Given the description of an element on the screen output the (x, y) to click on. 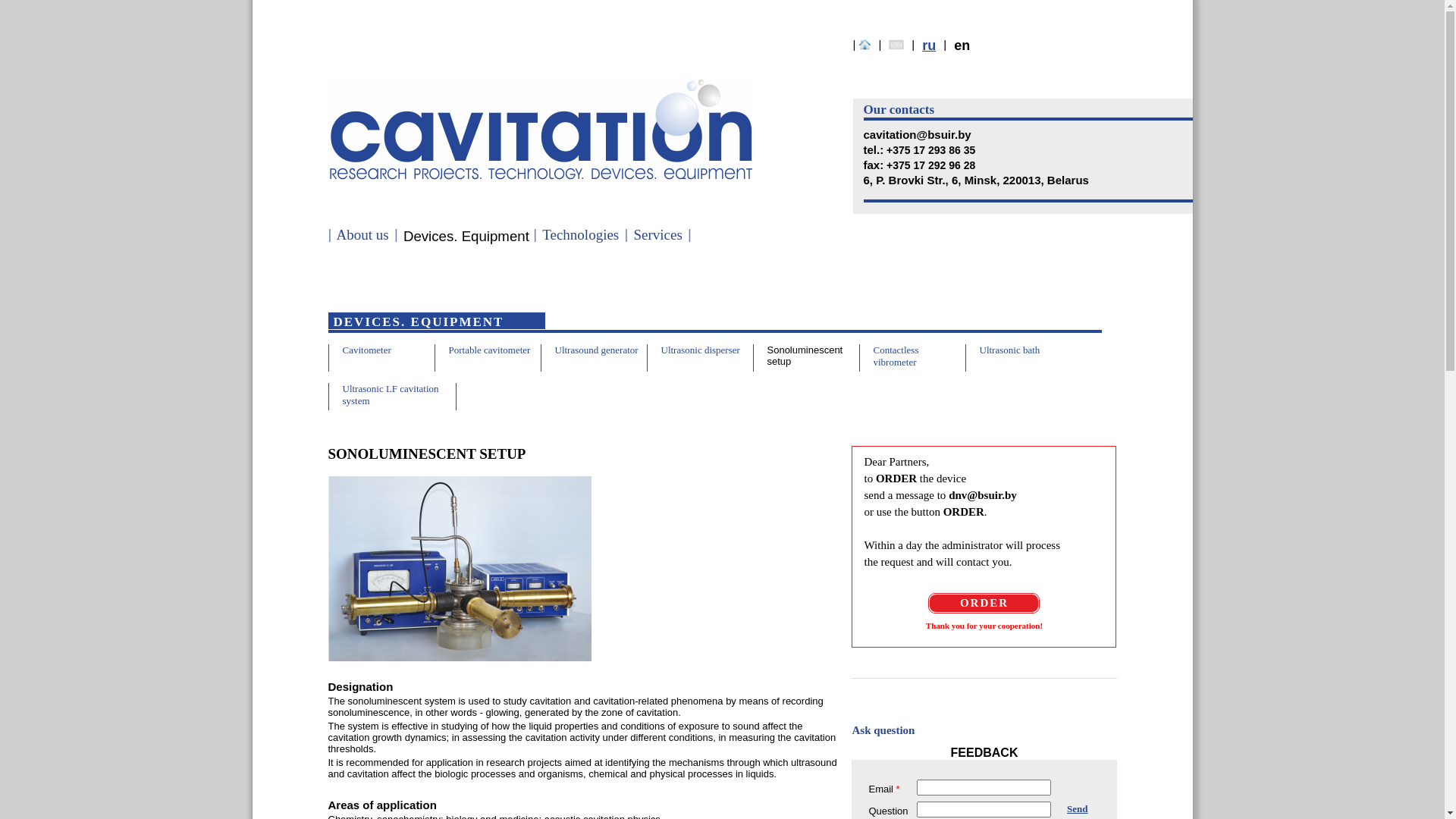
ORDER Element type: text (983, 602)
ru Element type: text (928, 45)
Send Element type: text (1076, 808)
Technologies Element type: text (580, 234)
Cavitometer Element type: text (366, 349)
Contactless vibrometer Element type: text (896, 355)
Ultrasonic disperser Element type: text (700, 349)
Services Element type: text (657, 234)
Ultrasonic LF cavitation system Element type: text (390, 394)
cavitation@bsuir.by Element type: text (916, 134)
Ultrasound generator Element type: text (596, 349)
Ultrasonic bath Element type: text (1009, 349)
Portable cavitometer Element type: text (489, 349)
About us Element type: text (362, 234)
